Given the description of an element on the screen output the (x, y) to click on. 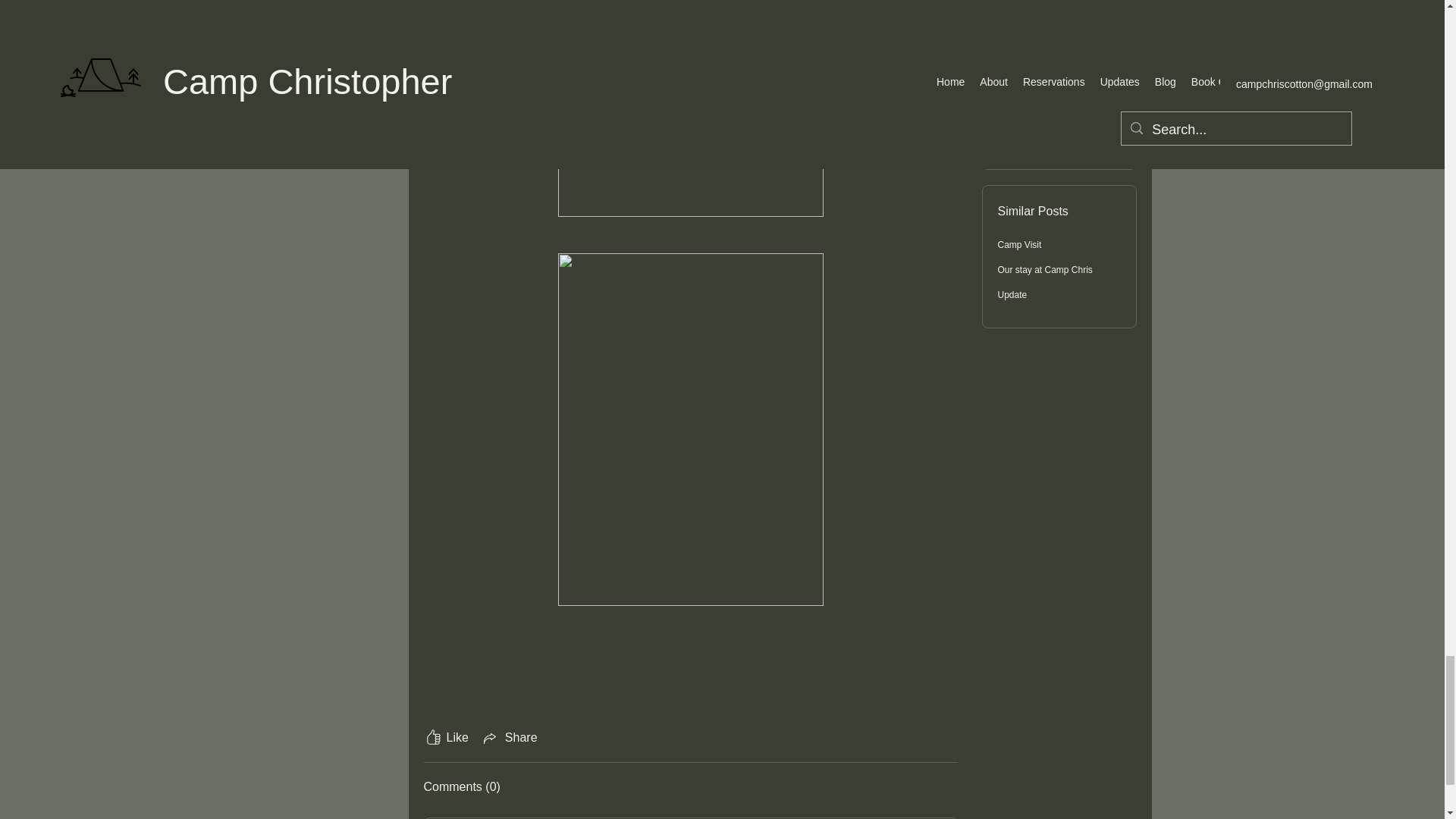
Share (508, 737)
Like (445, 737)
